Given the description of an element on the screen output the (x, y) to click on. 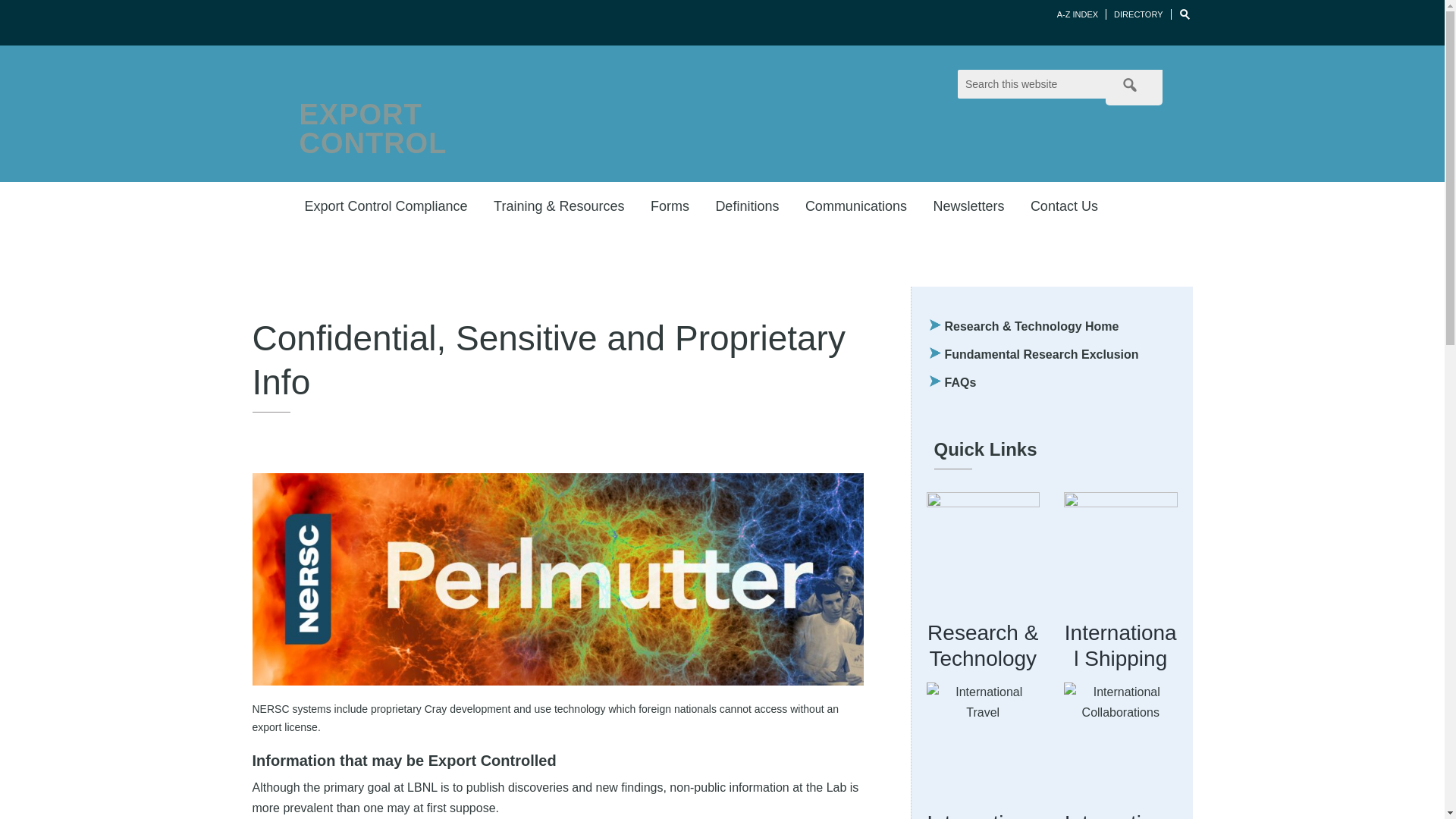
Fundamental Research Exclusion (1041, 354)
Definitions (747, 203)
EXPORT CONTROL (372, 128)
Berkeley Lab (335, 22)
DIRECTORY (1137, 13)
Newsletters (967, 203)
FAQs (960, 382)
Contact Us (1064, 203)
Communications (856, 203)
